Given the description of an element on the screen output the (x, y) to click on. 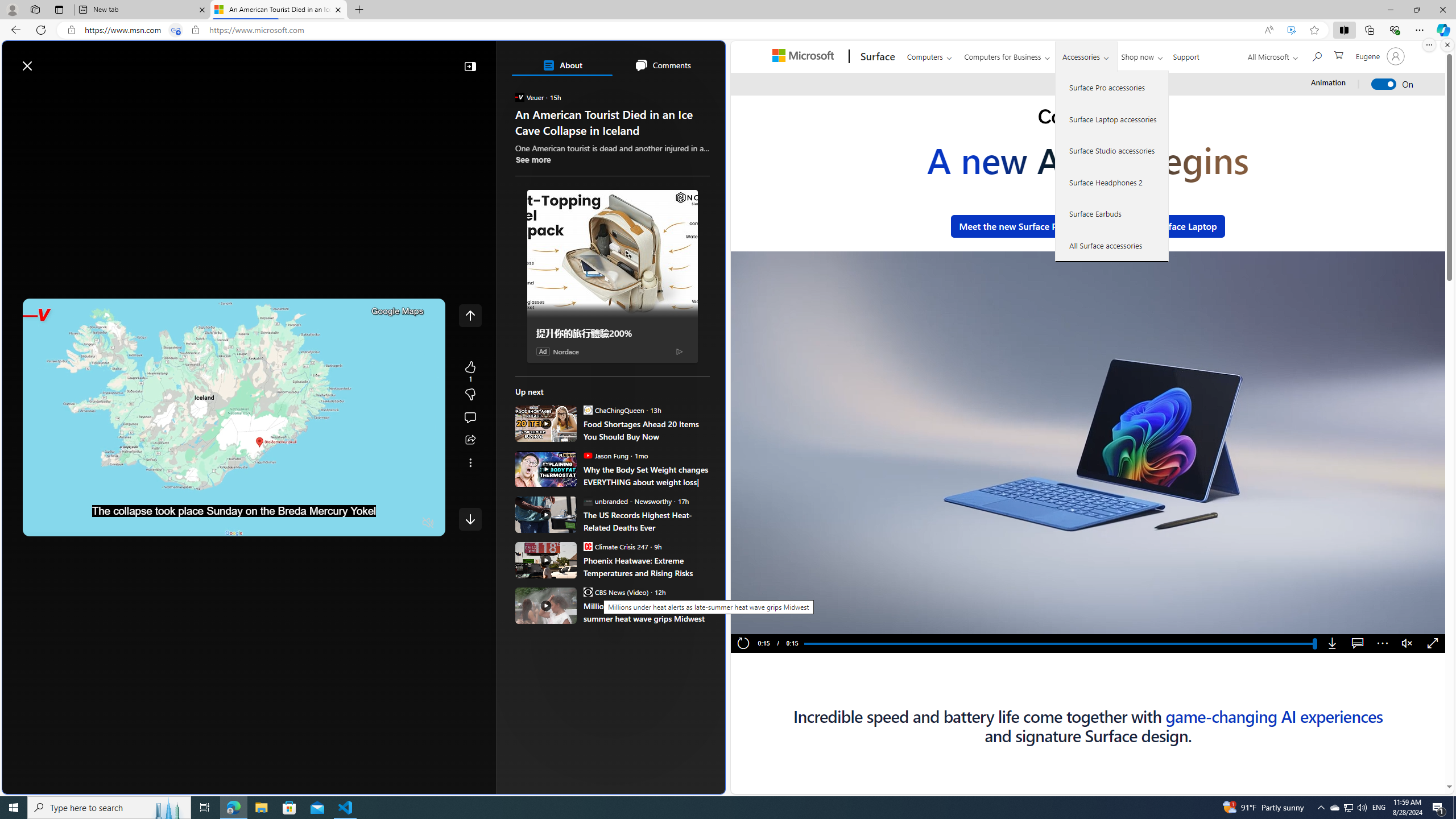
Fullscreen (1432, 643)
1 Like (469, 371)
Meet the new Surface Pro (1012, 225)
Climate Crisis 247 Climate Crisis 247 (614, 546)
Copilot+ PC. (1088, 117)
Surface (876, 56)
Skip to footer (46, 59)
Class: control icon-only (469, 315)
Surface Pro accessories (1112, 87)
An American Tourist Died in an Ice Cave Collapse in Iceland (277, 9)
The Associated Press (554, 366)
